Given the description of an element on the screen output the (x, y) to click on. 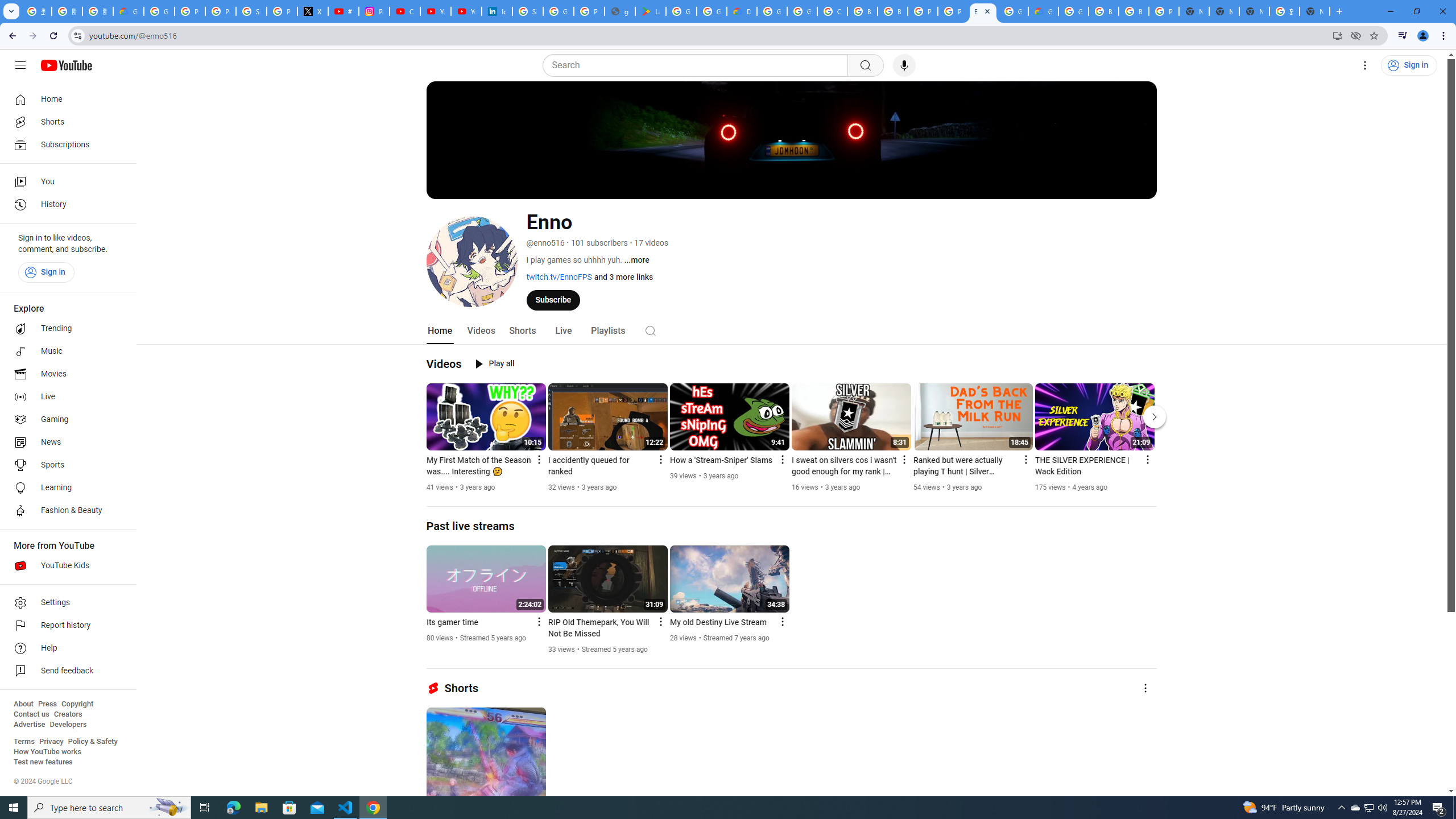
Shorts (64, 121)
New Tab (1193, 11)
Google Workspace - Specific Terms (711, 11)
About (23, 703)
Last Shelter: Survival - Apps on Google Play (650, 11)
Send feedback (64, 671)
Description. I play games so uhhhh yuh....tap for more. (636, 260)
